Given the description of an element on the screen output the (x, y) to click on. 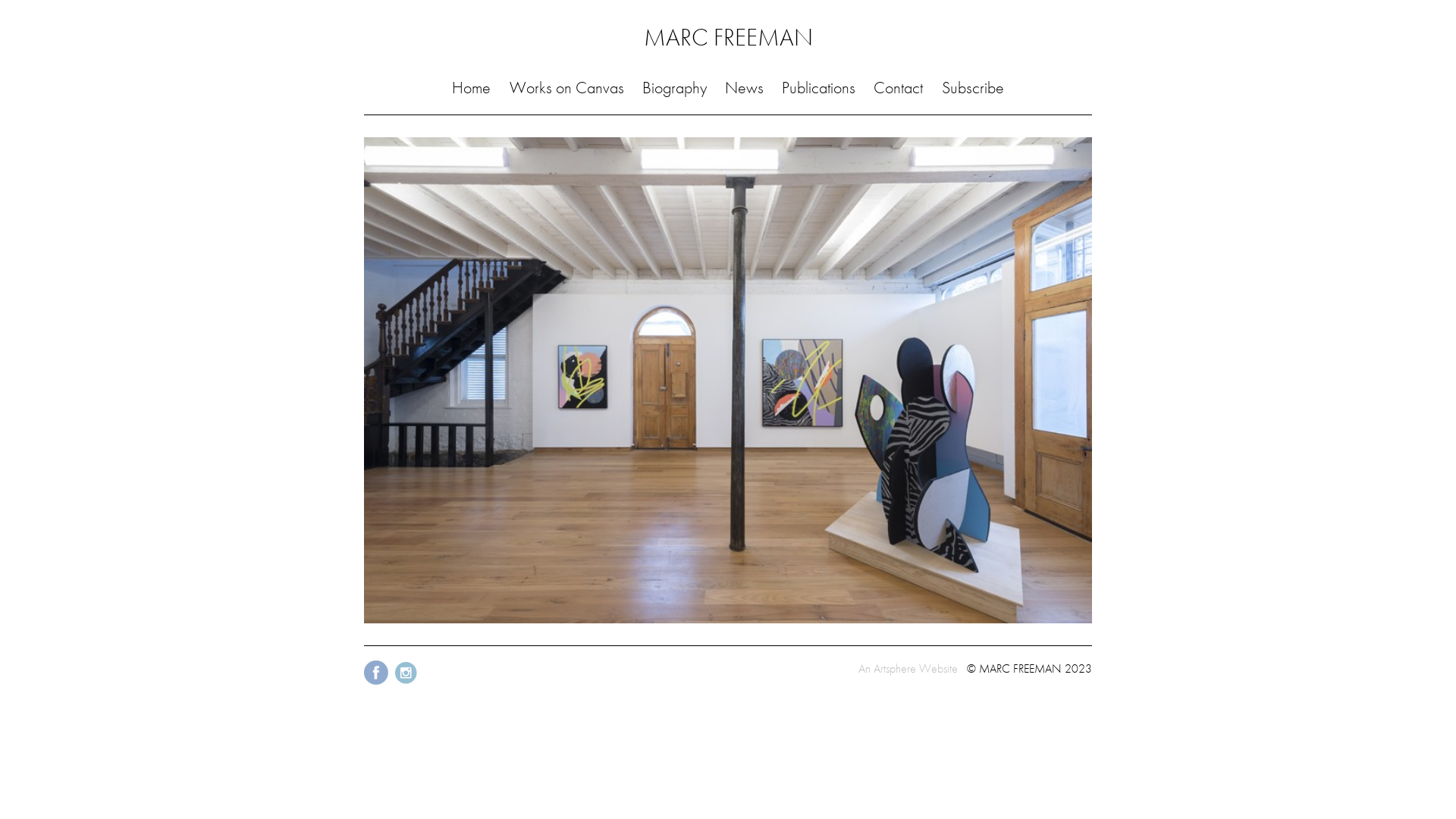
Subscribe Element type: text (972, 87)
Biography Element type: text (674, 87)
News Element type: text (743, 87)
An Artsphere Website Element type: text (907, 668)
Publications Element type: text (818, 87)
Facebook Element type: hover (377, 683)
webpage3 by Marc Freeman Element type: hover (728, 380)
Works on Canvas Element type: text (566, 87)
Home Element type: text (470, 87)
Instagram Element type: hover (406, 683)
Contact Element type: text (897, 87)
